Given the description of an element on the screen output the (x, y) to click on. 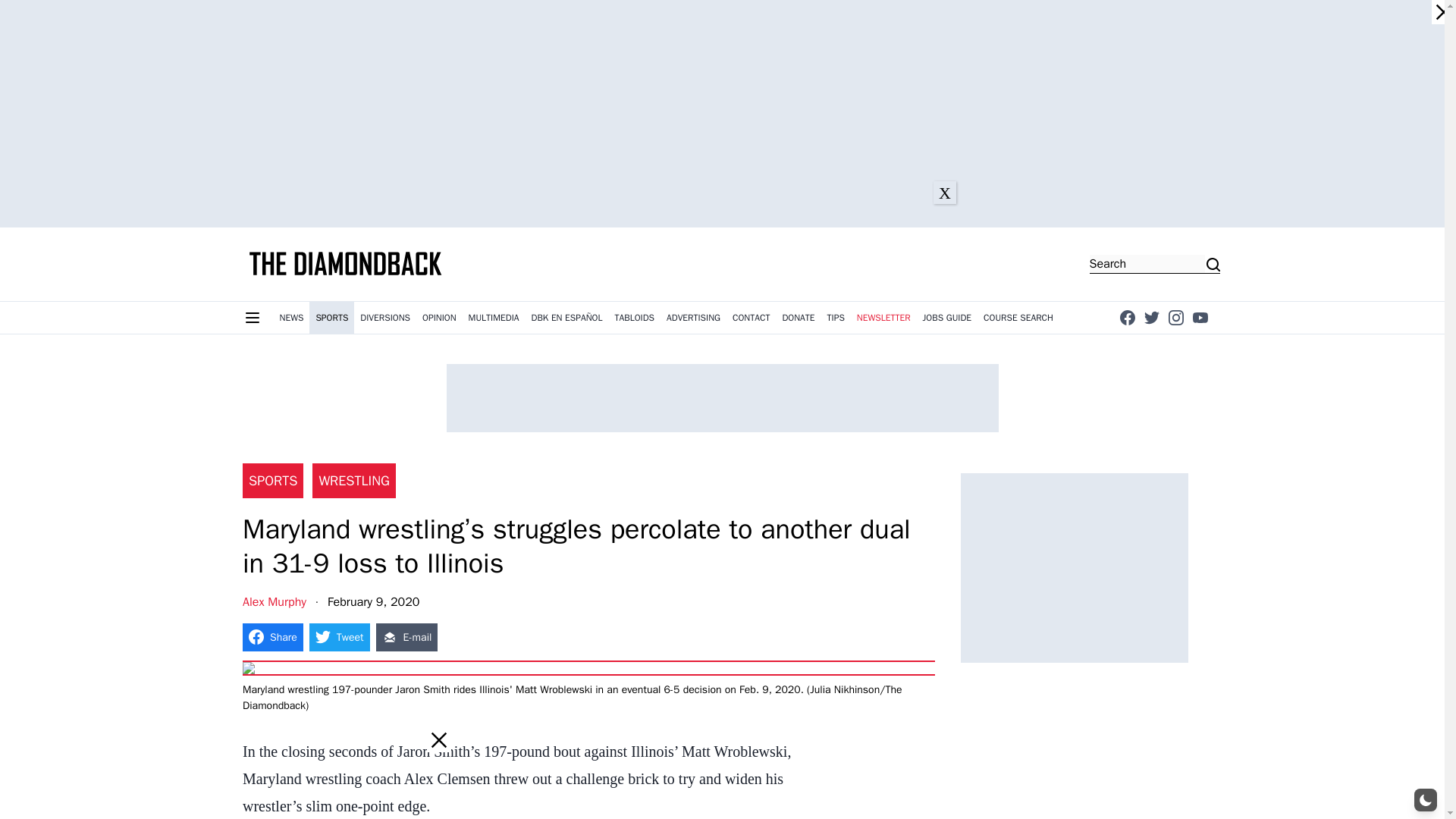
Advertising (693, 317)
News (290, 317)
Opinion (439, 317)
DONATE (798, 317)
Donate (798, 317)
NEWS (290, 317)
ADVERTISING (693, 317)
Sports (330, 317)
TABLOIDS (634, 317)
